Given the description of an element on the screen output the (x, y) to click on. 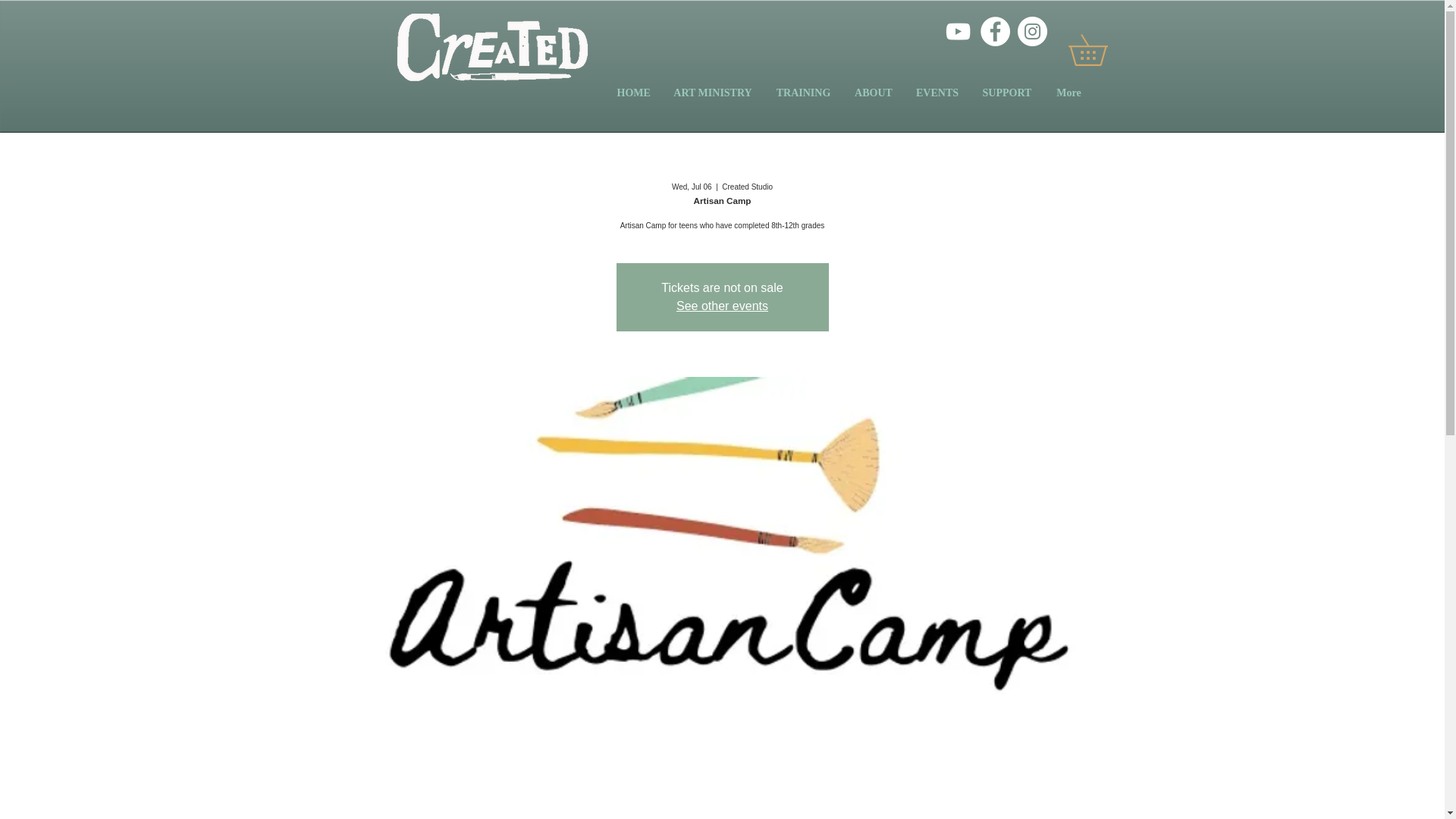
See other events (722, 305)
ART MINISTRY (711, 93)
HOME (633, 93)
SUPPORT (1007, 93)
TRAINING (803, 93)
EVENTS (936, 93)
ABOUT (873, 93)
